Given the description of an element on the screen output the (x, y) to click on. 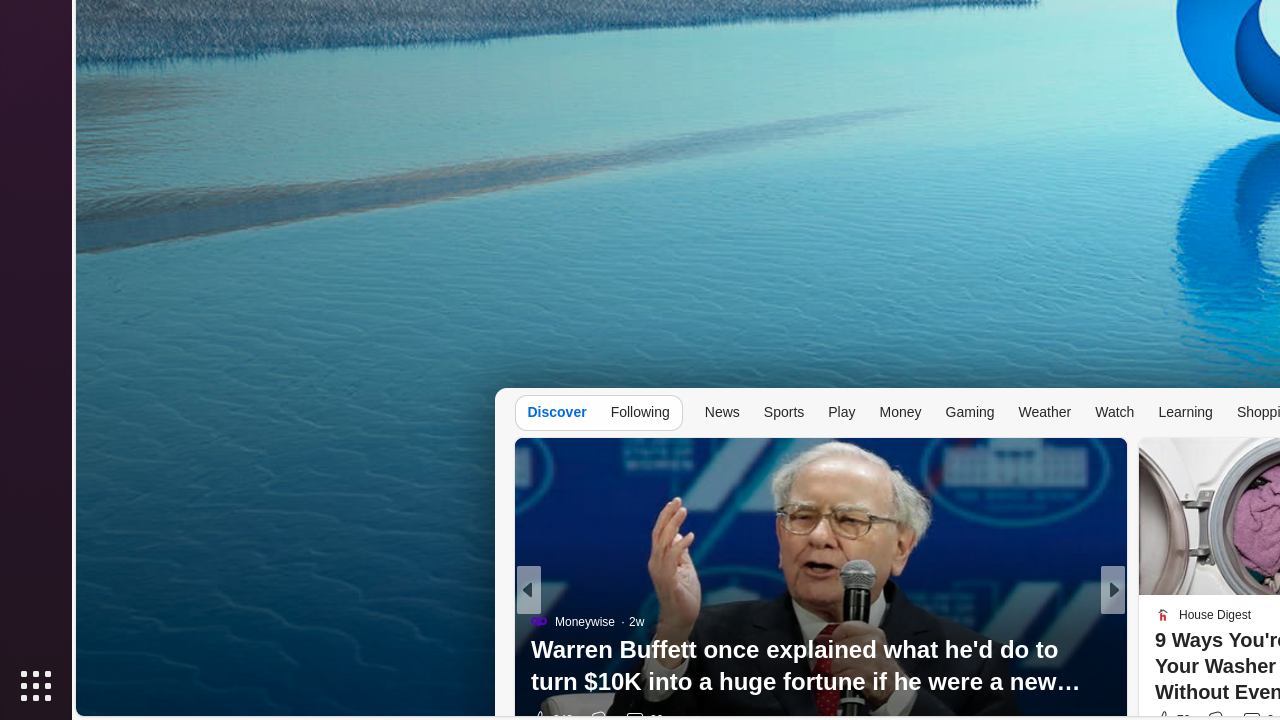
Money Element type: link (900, 412)
Forge of Empires Element type: link (576, 654)
Sports Element type: link (784, 412)
Gaming Element type: link (970, 412)
News Element type: link (722, 412)
